Given the description of an element on the screen output the (x, y) to click on. 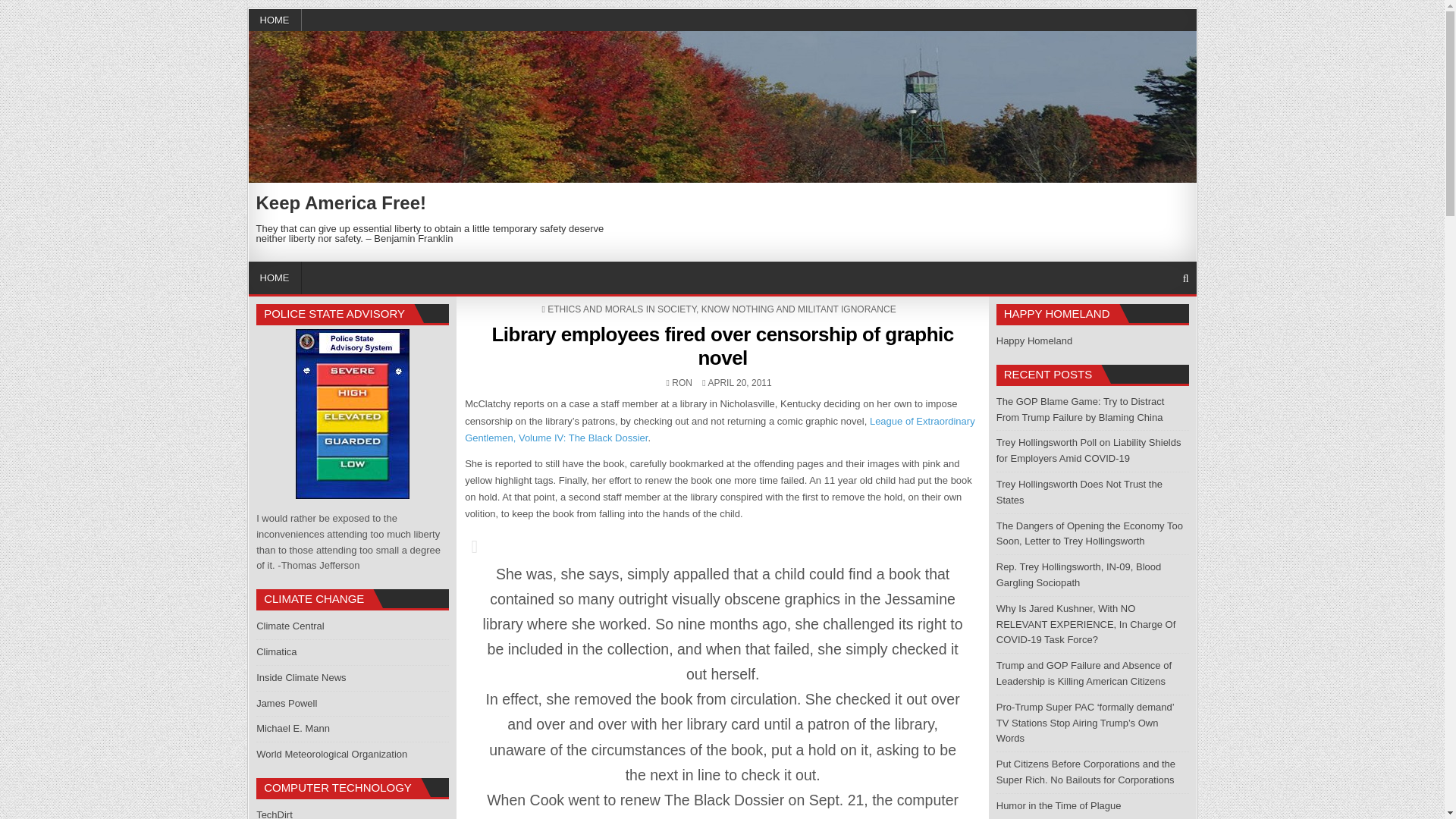
KNOW NOTHING AND MILITANT IGNORANCE (798, 308)
World Meteorological Organization (331, 754)
Climate Central (290, 625)
TechDirt (274, 814)
Library employees fired over censorship of graphic novel (722, 345)
HOME (274, 20)
Climatica (276, 651)
ETHICS AND MORALS IN SOCIETY (621, 308)
RON (682, 382)
Michael E. Mann (293, 727)
Inside Climate News (301, 677)
HOME (274, 277)
James Powell (286, 703)
Keep America Free! (341, 202)
